Given the description of an element on the screen output the (x, y) to click on. 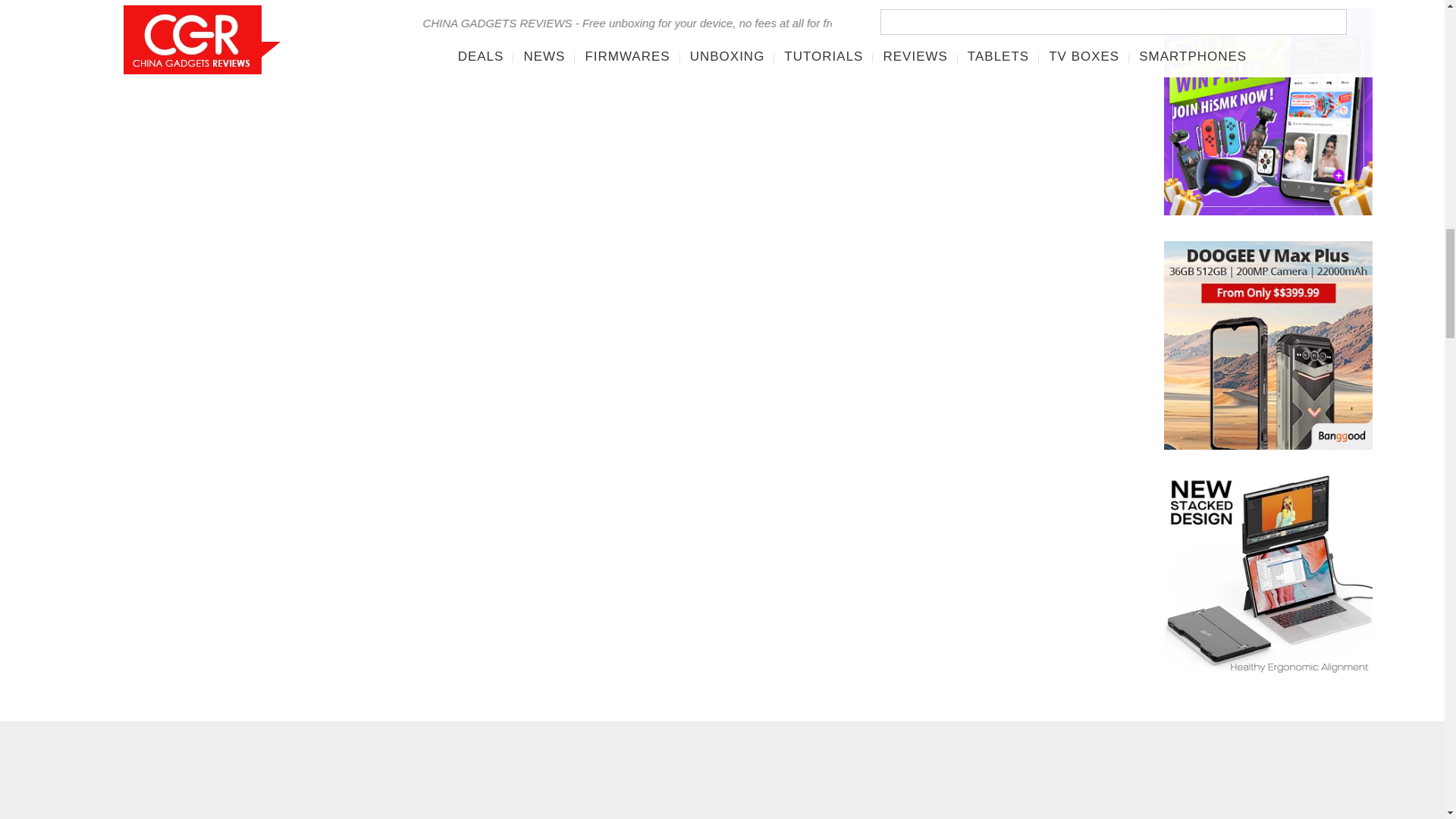
Advertisement (612, 65)
Advertisement (1252, 781)
Advertisement (191, 781)
Advertisement (898, 781)
Advertisement (544, 781)
